Given the description of an element on the screen output the (x, y) to click on. 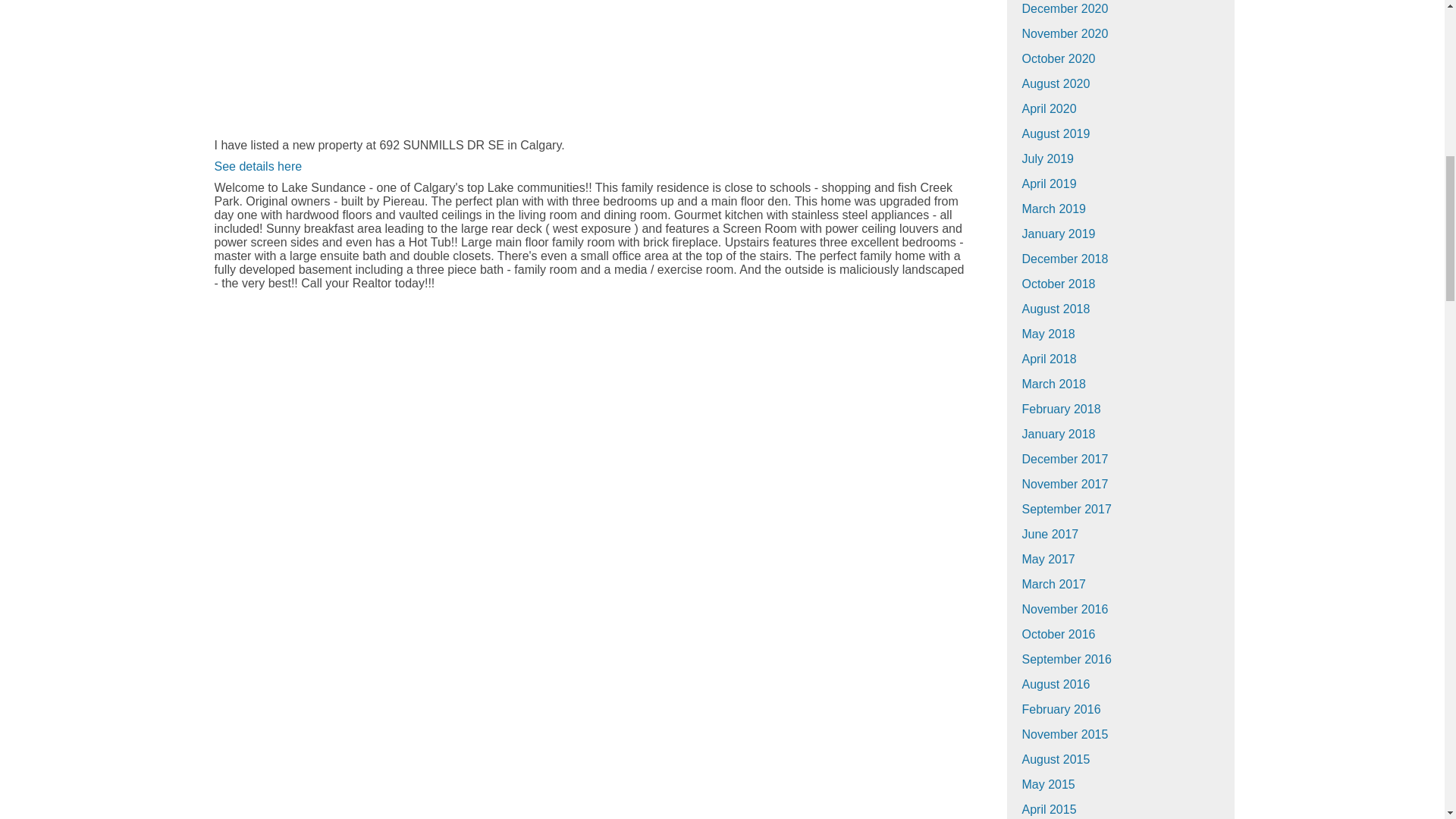
See details here (257, 165)
